Given the description of an element on the screen output the (x, y) to click on. 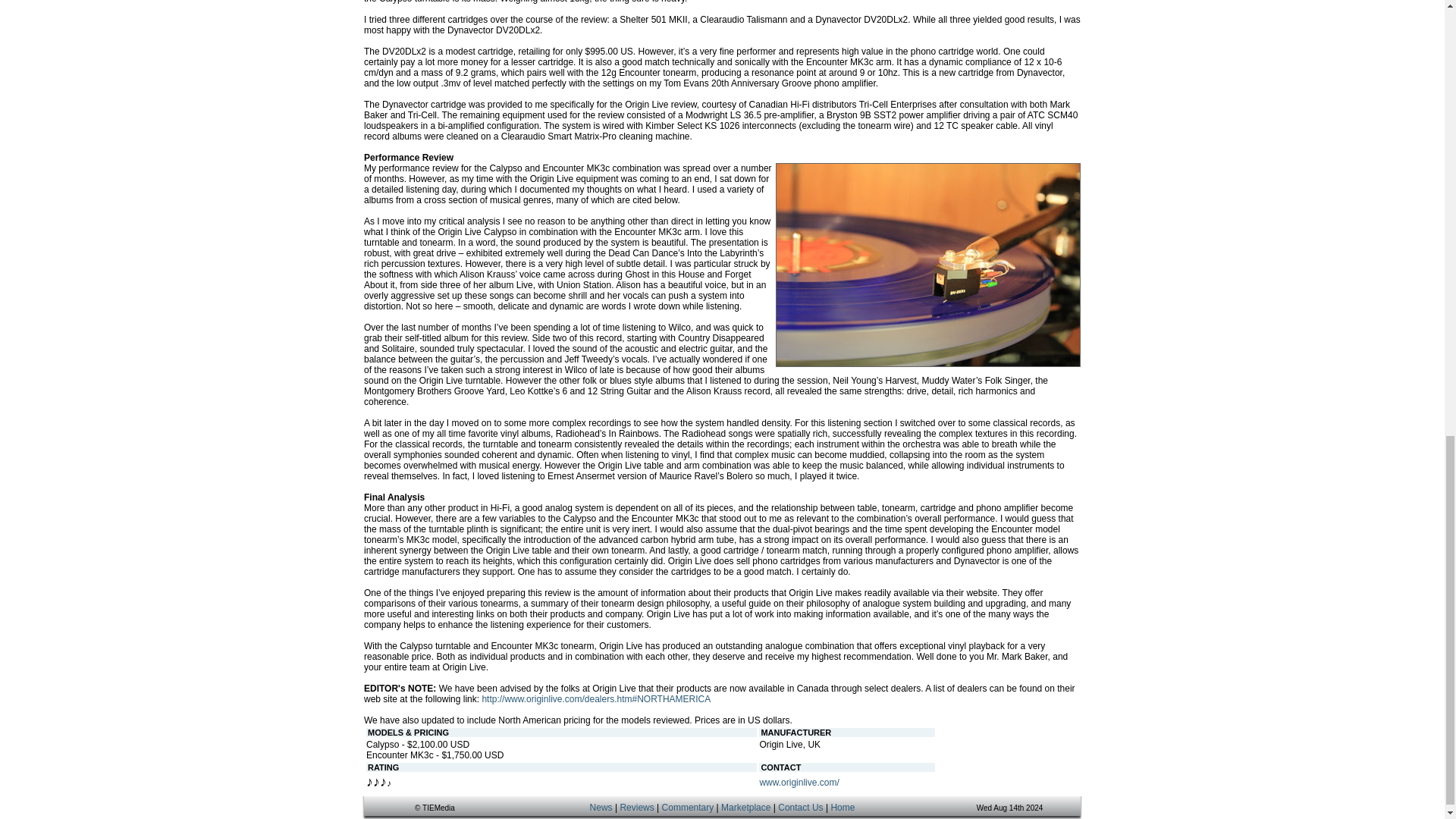
Marketplace (745, 807)
Reviews (636, 807)
Home (841, 807)
Commentary (688, 807)
News (600, 807)
Contact Us (799, 807)
